Given the description of an element on the screen output the (x, y) to click on. 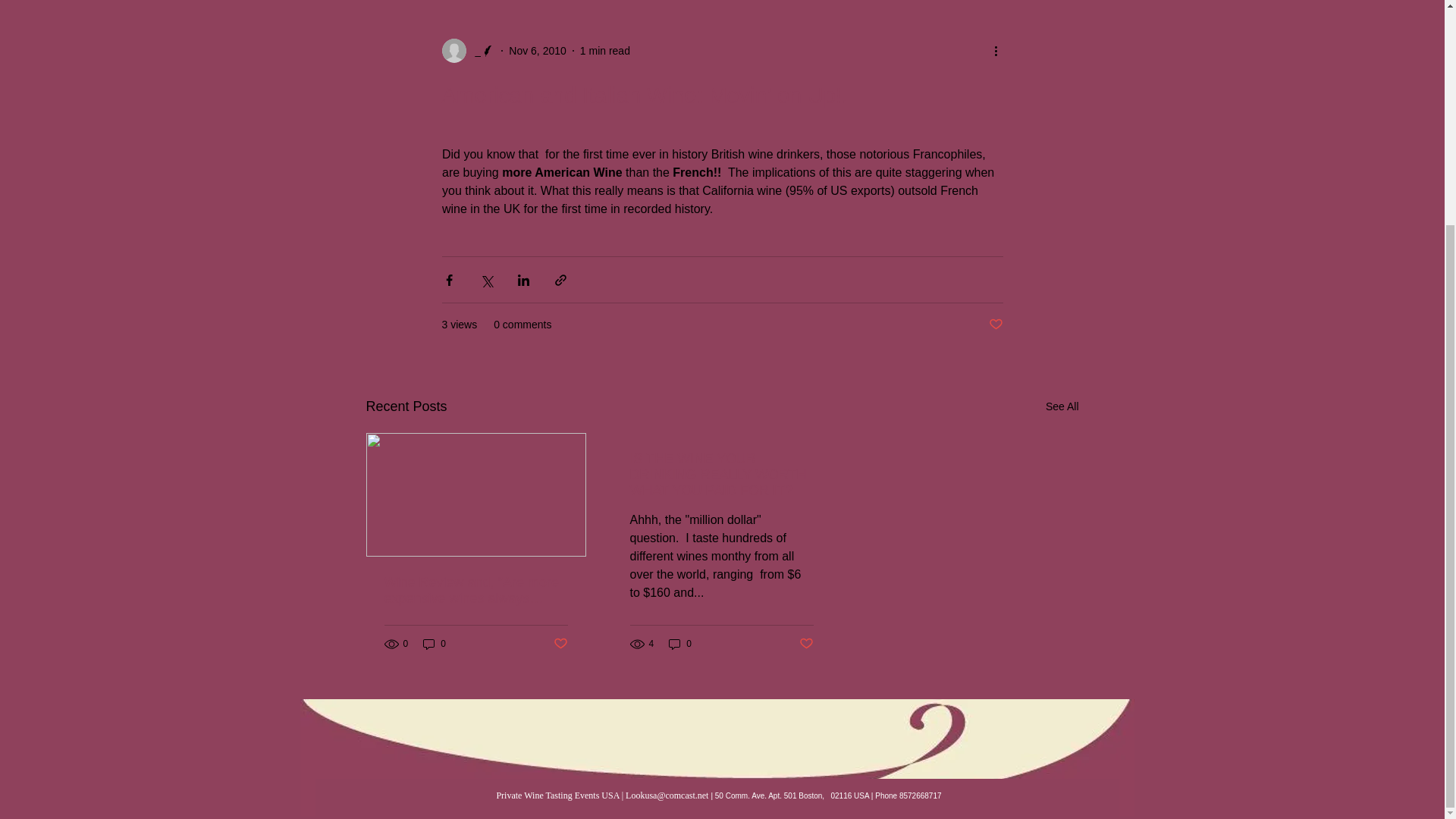
Nov 6, 2010 (537, 50)
Wine Review and, "Are more expensive wines always better"? (475, 590)
0 (434, 644)
0 (679, 644)
Post not marked as liked (806, 643)
Post not marked as liked (995, 324)
1 min read (604, 50)
IS THE WINE YOUR DRINKING REALLY WORTH WHAT YOU PAID FOR IT? (720, 474)
Post not marked as liked (560, 643)
See All (1061, 406)
